Given the description of an element on the screen output the (x, y) to click on. 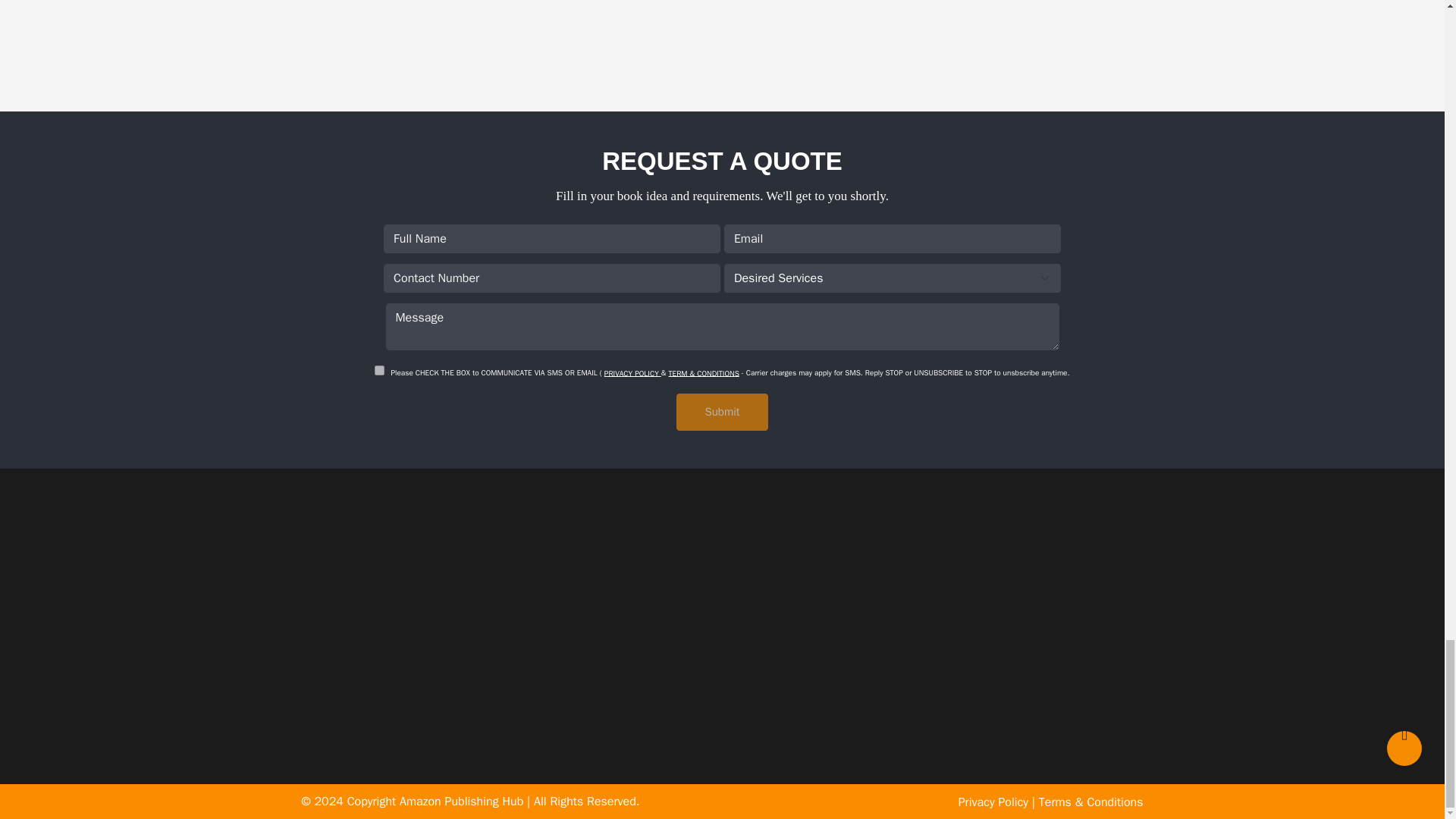
Submit (722, 411)
Submit (722, 411)
PRIVACY POLICY (632, 372)
on (379, 370)
